Given the description of an element on the screen output the (x, y) to click on. 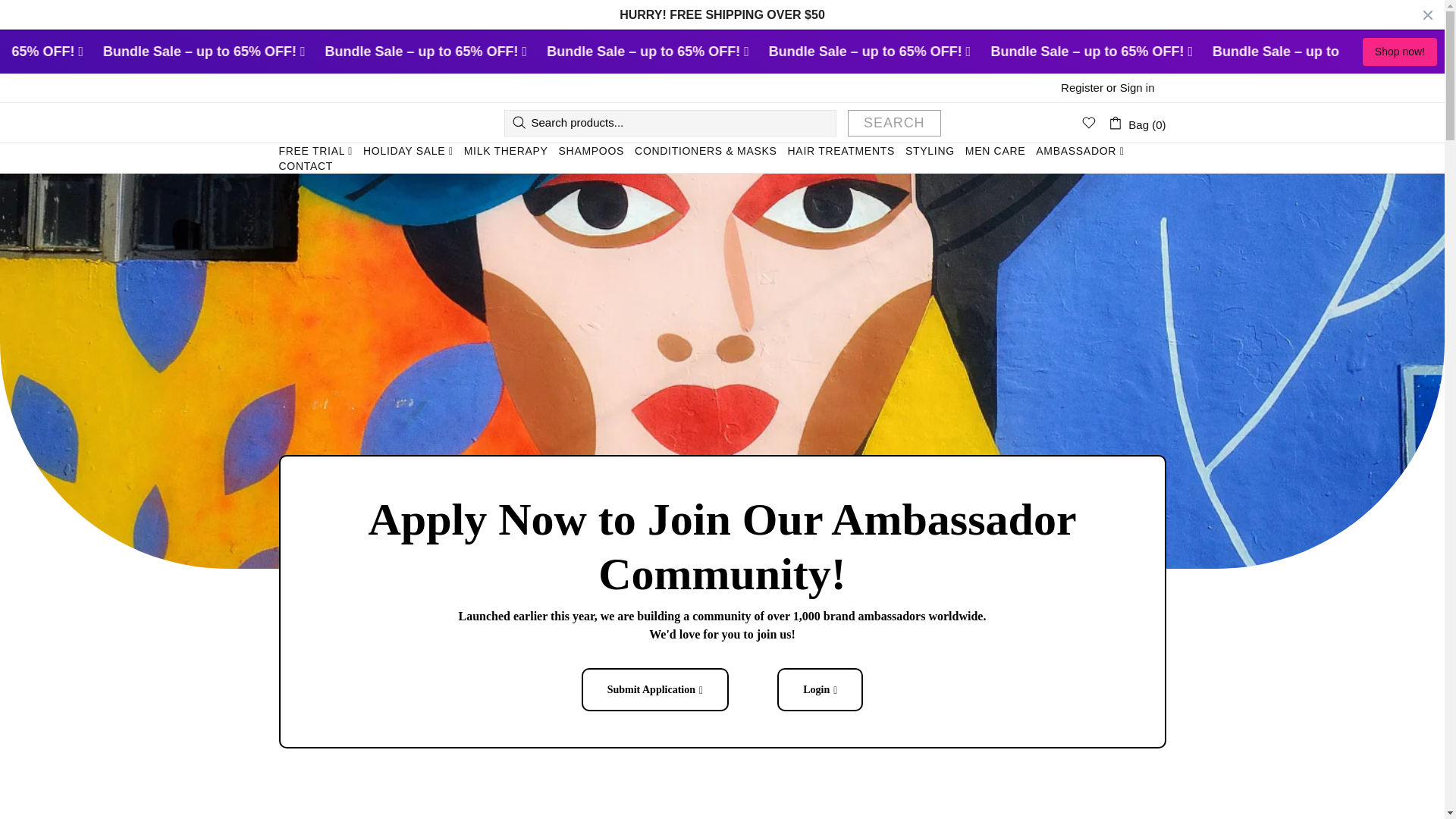
The Morfose (354, 122)
Register (1082, 87)
Contact (298, 616)
HAIR TREATMENTS (841, 150)
Meet Us (300, 575)
Login (820, 689)
Wholesale PRO (319, 637)
SHAMPOOS (591, 150)
SEARCH (893, 122)
Blog (290, 596)
Submit Application (654, 689)
Payment (453, 555)
MEN CARE (994, 150)
CONTACT (305, 165)
Home (293, 555)
